Given the description of an element on the screen output the (x, y) to click on. 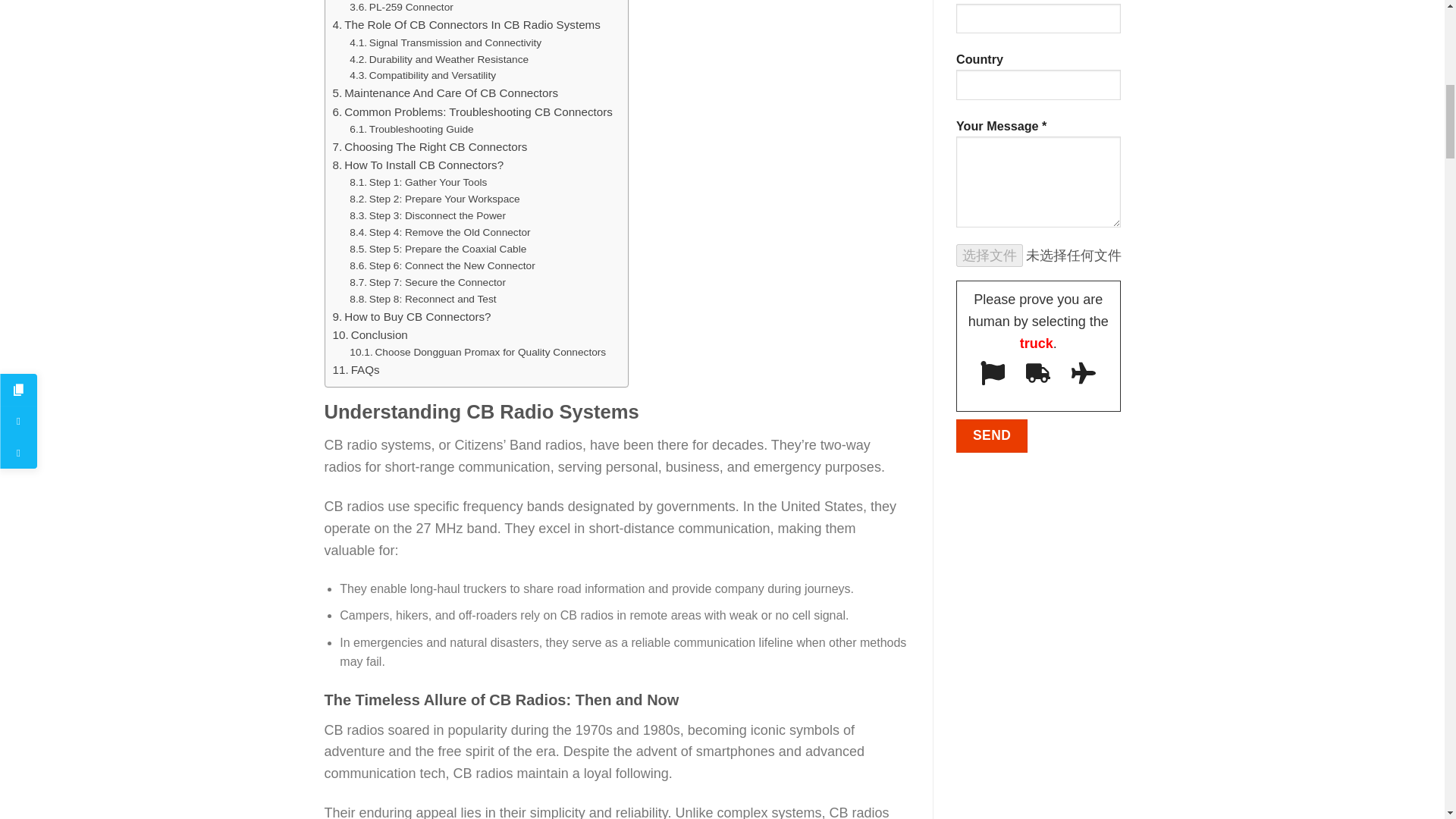
Maintenance And Care Of CB Connectors (444, 93)
Signal Transmission and Connectivity (445, 43)
Compatibility and Versatility (422, 75)
Send (991, 435)
The Role Of CB Connectors In CB Radio Systems (465, 24)
Durability and Weather Resistance (438, 59)
